Given the description of an element on the screen output the (x, y) to click on. 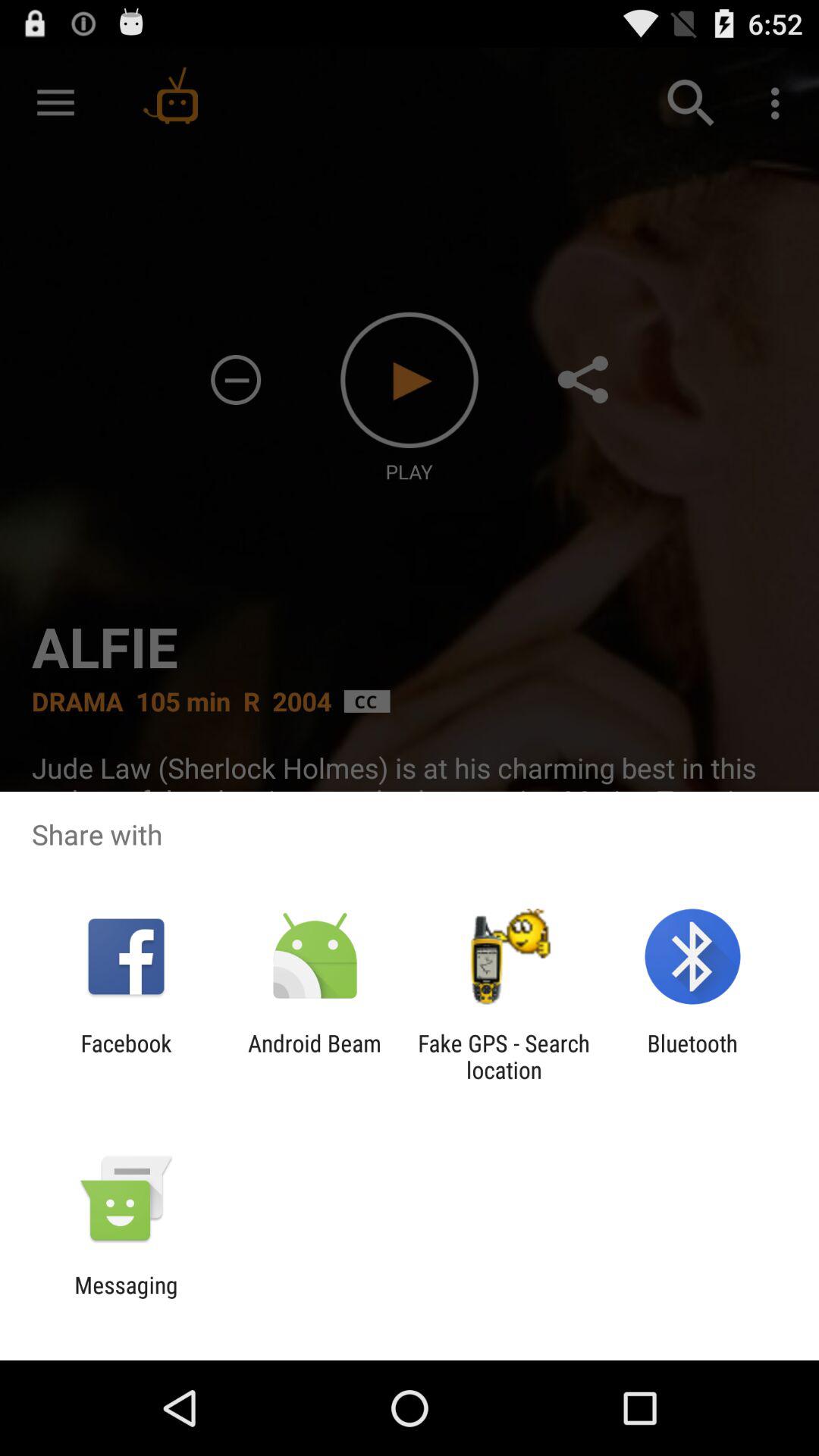
turn on app next to the fake gps search (314, 1056)
